Given the description of an element on the screen output the (x, y) to click on. 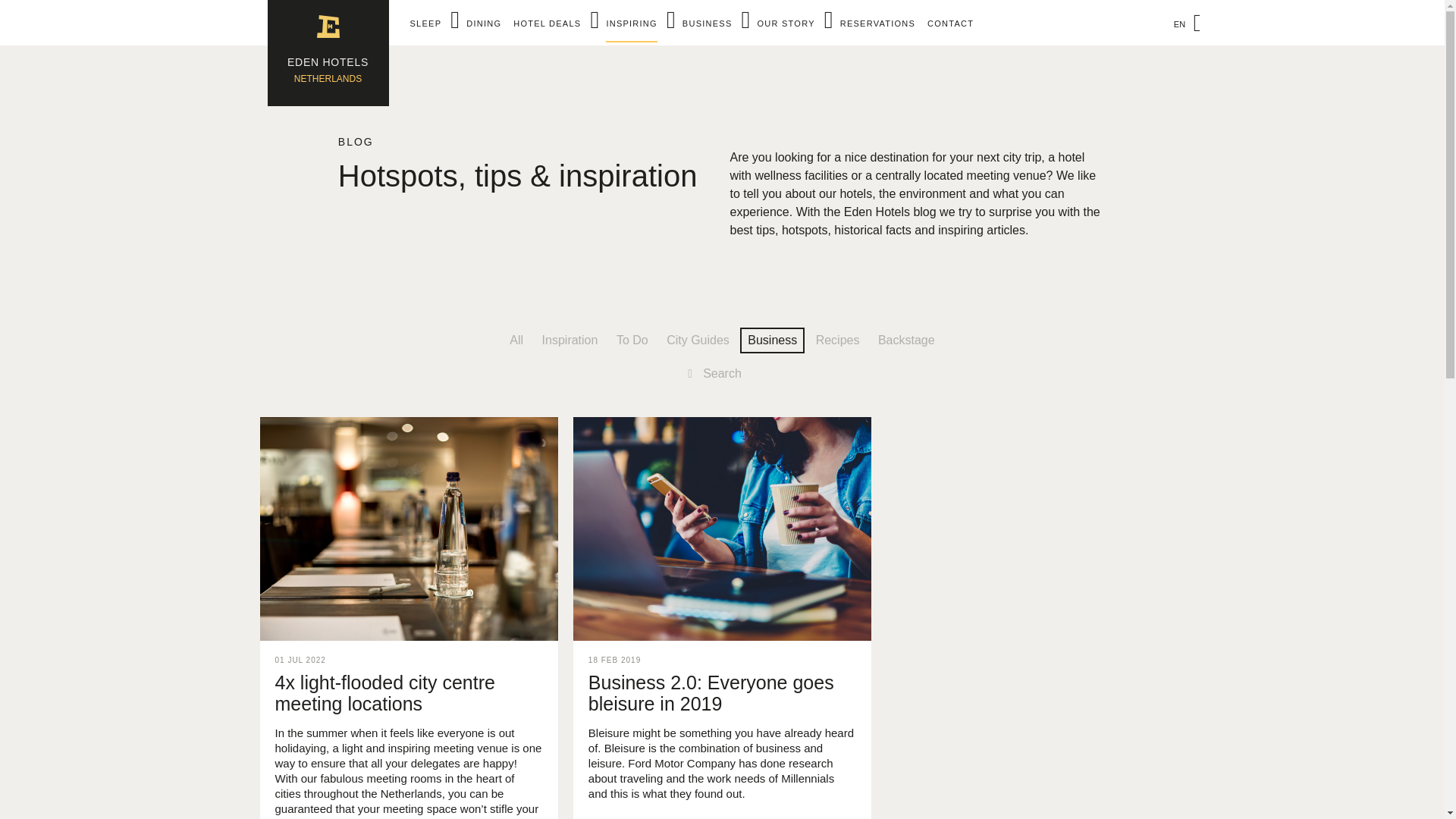
EN (1182, 24)
To Do (632, 339)
Eden Hotels (327, 53)
CONTACT (950, 22)
DINING (482, 22)
RESERVATIONS (877, 22)
Business (772, 339)
City Guides (697, 339)
HOTEL DEALS (327, 53)
